Given the description of an element on the screen output the (x, y) to click on. 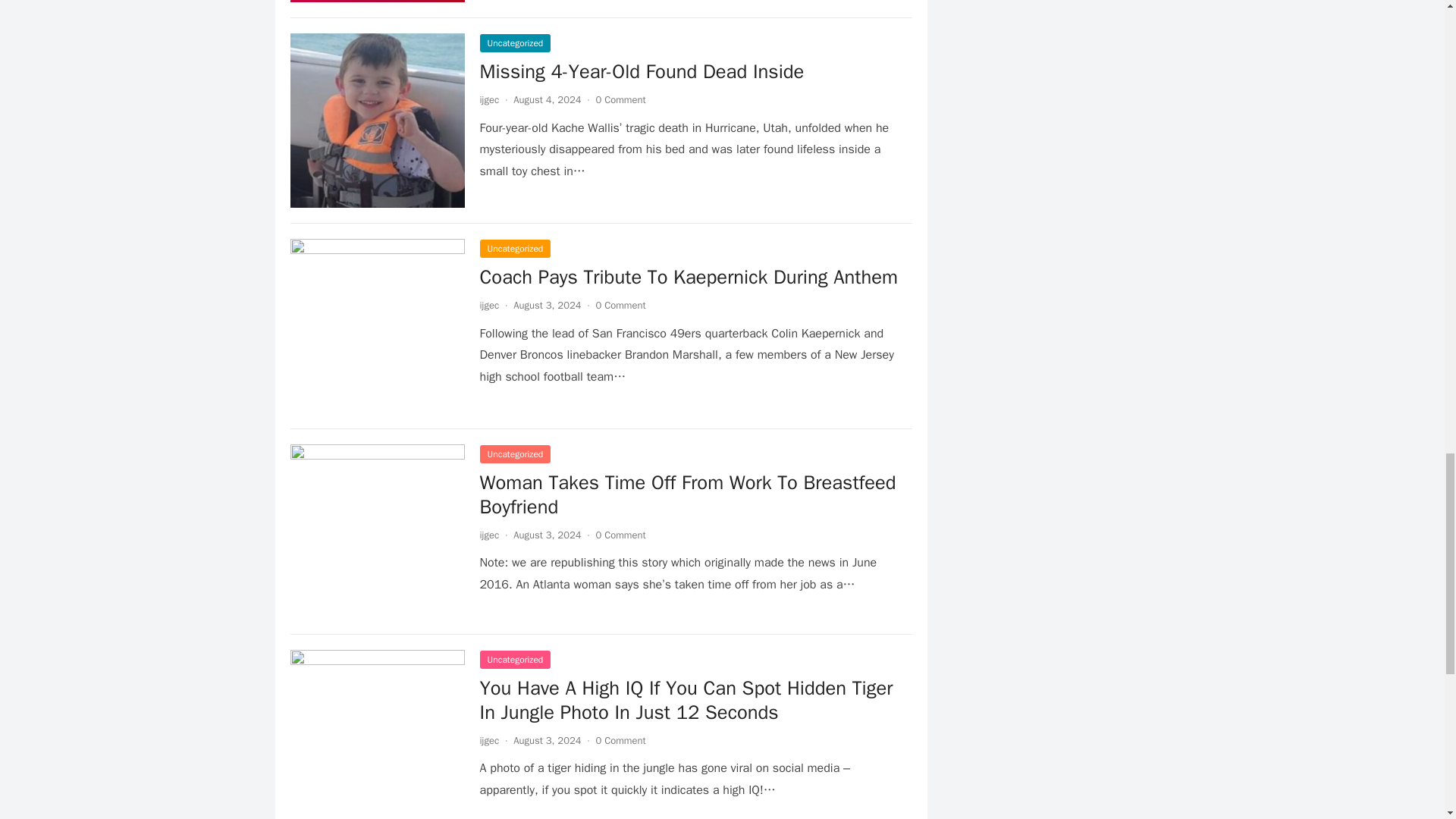
Coach Pays Tribute To Kaepernick During Anthem (688, 276)
Uncategorized (514, 43)
ijgec (489, 99)
Posts by ijgec (489, 99)
Woman Takes Time Off From Work To Breastfeed Boyfriend (687, 494)
0 Comment (620, 534)
Posts by ijgec (489, 534)
Posts by ijgec (489, 739)
0 Comment (620, 99)
ijgec (489, 534)
Posts by ijgec (489, 305)
ijgec (489, 305)
Uncategorized (514, 248)
0 Comment (620, 305)
